Given the description of an element on the screen output the (x, y) to click on. 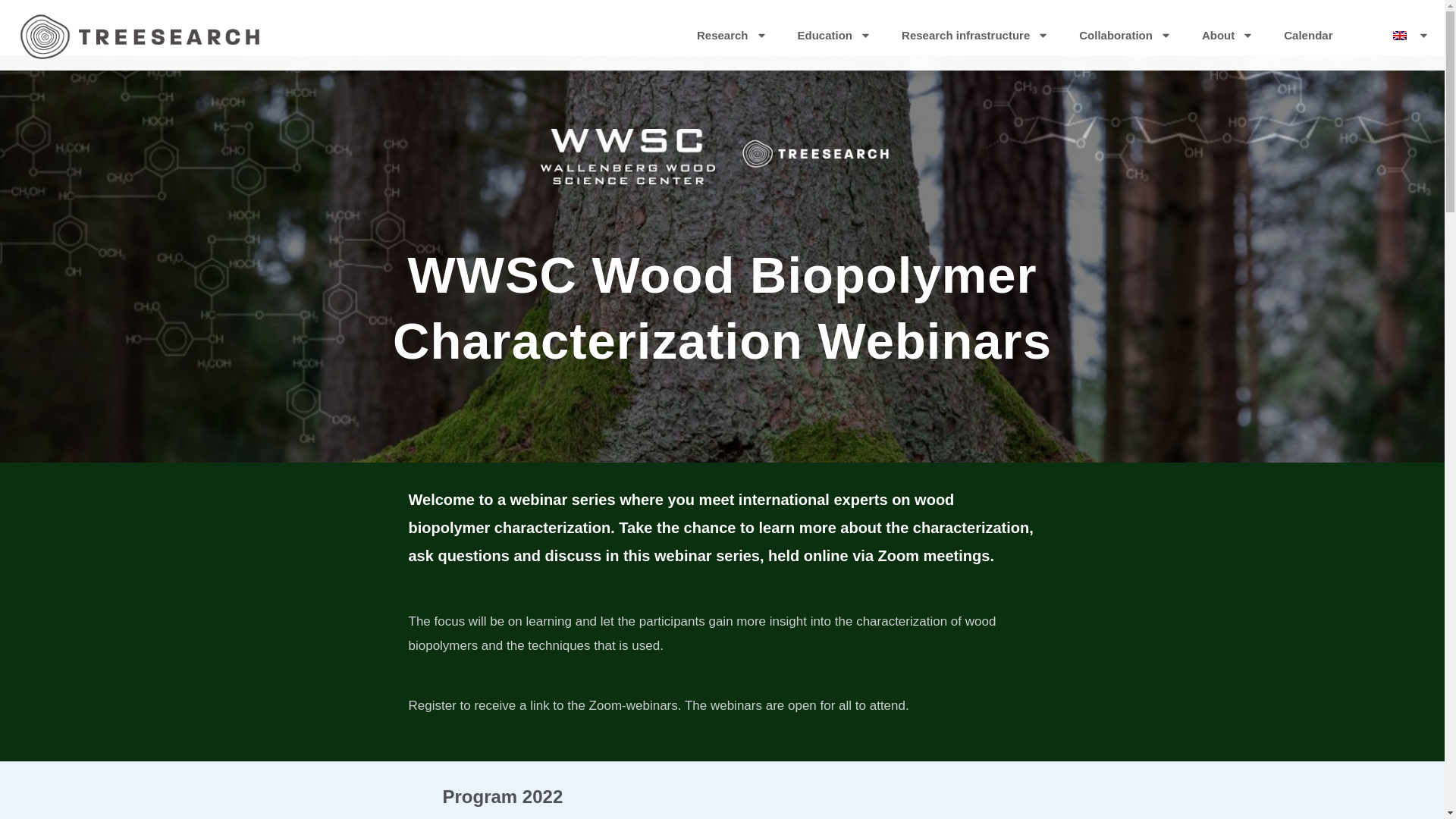
About (1227, 35)
Research infrastructure (975, 35)
Research (732, 35)
Collaboration (1125, 35)
Education (834, 35)
